Given the description of an element on the screen output the (x, y) to click on. 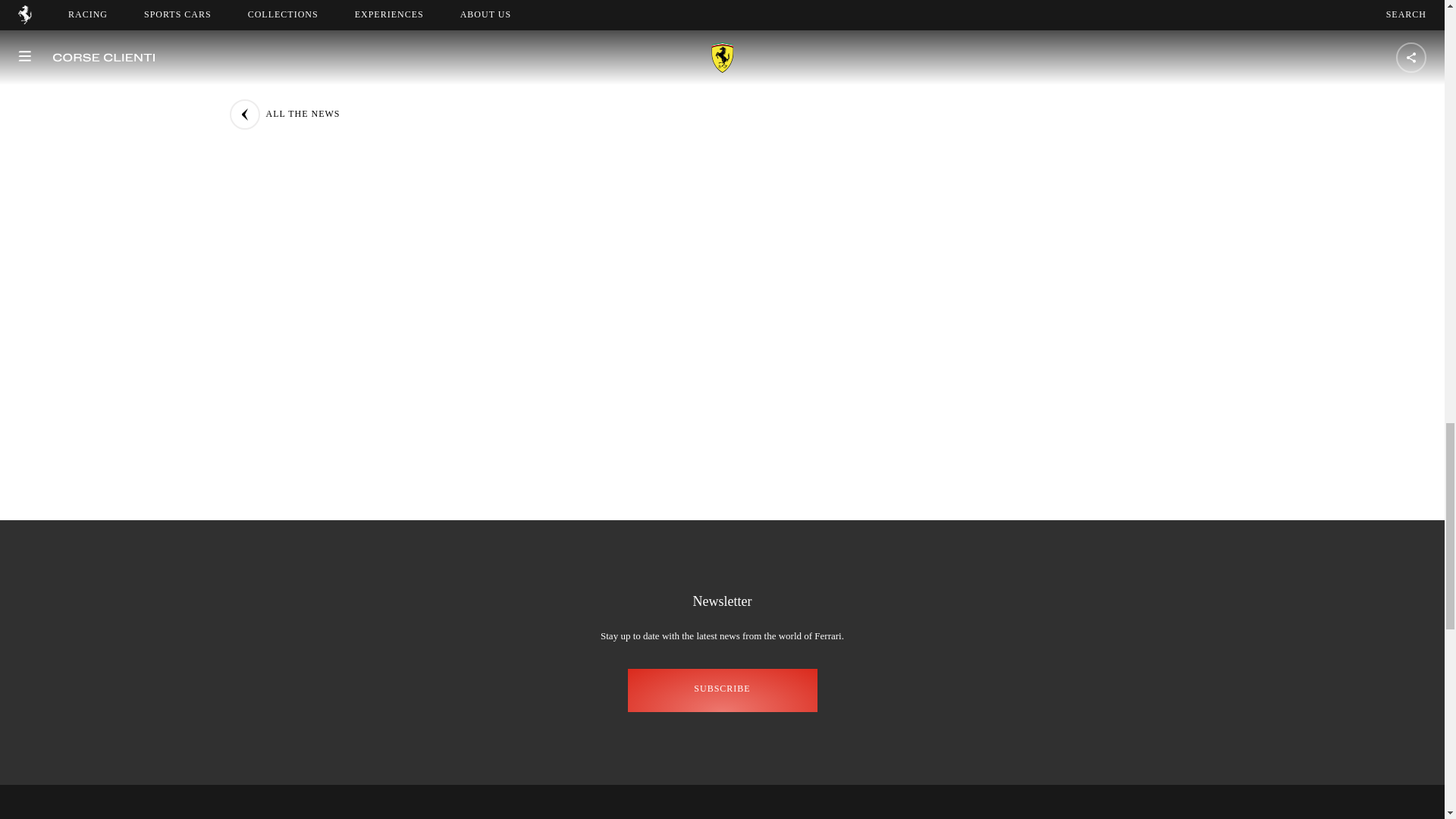
MISANO (616, 4)
COLLECTIONS (721, 814)
LAURENT DE MEEUS (738, 4)
SUBSCRIBE (721, 690)
SEASON 2020 (512, 4)
